Given the description of an element on the screen output the (x, y) to click on. 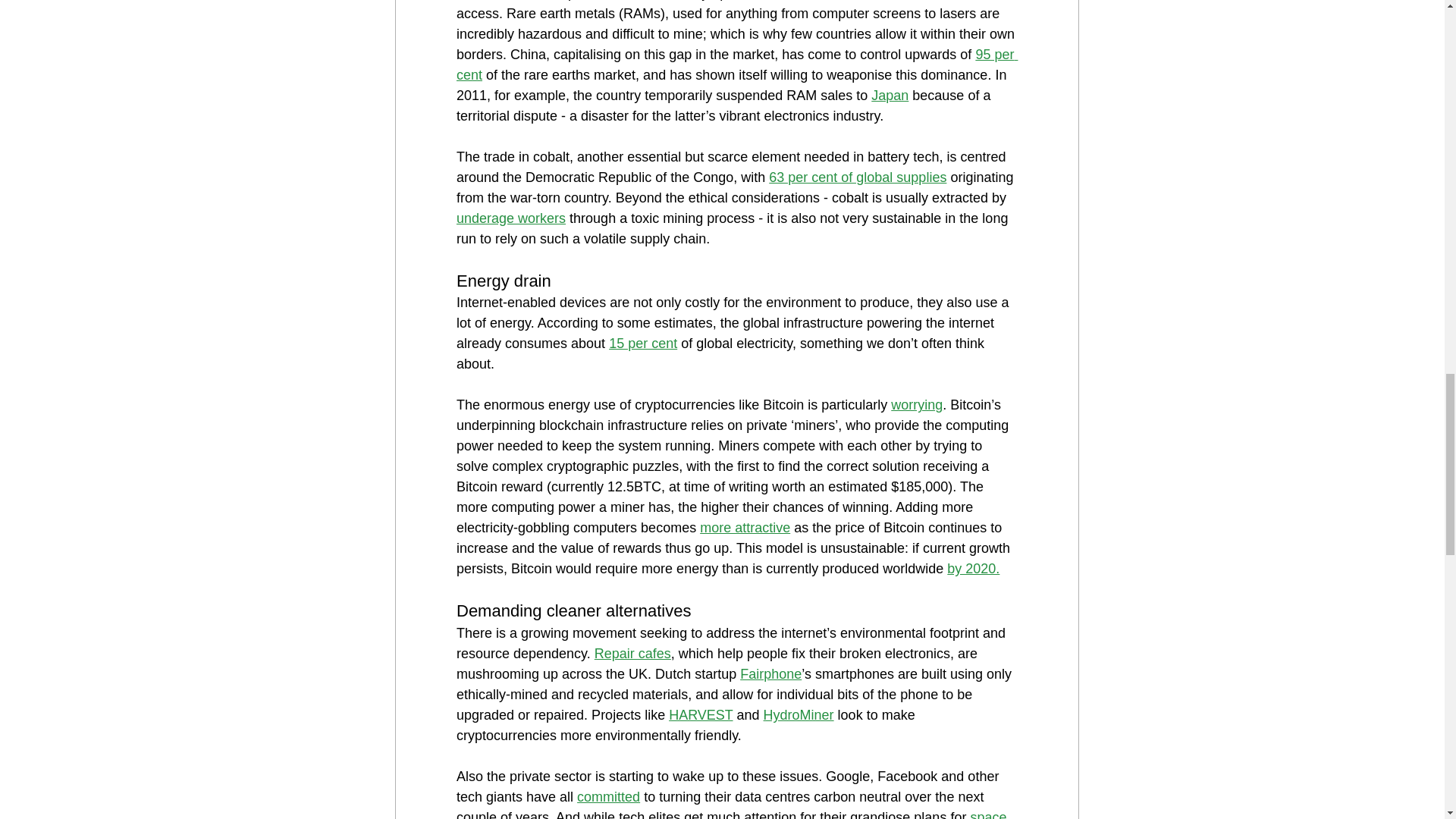
underage workers (511, 218)
more attractive (745, 527)
15 per cent (642, 343)
Japan (889, 95)
space (987, 814)
worrying (916, 404)
HARVEST (700, 714)
63 per cent of global supplies (857, 177)
HydroMiner (797, 714)
Fairphone (770, 673)
Repair cafes (631, 653)
committed (608, 796)
95 per cent (737, 64)
by 2020. (972, 568)
